Given the description of an element on the screen output the (x, y) to click on. 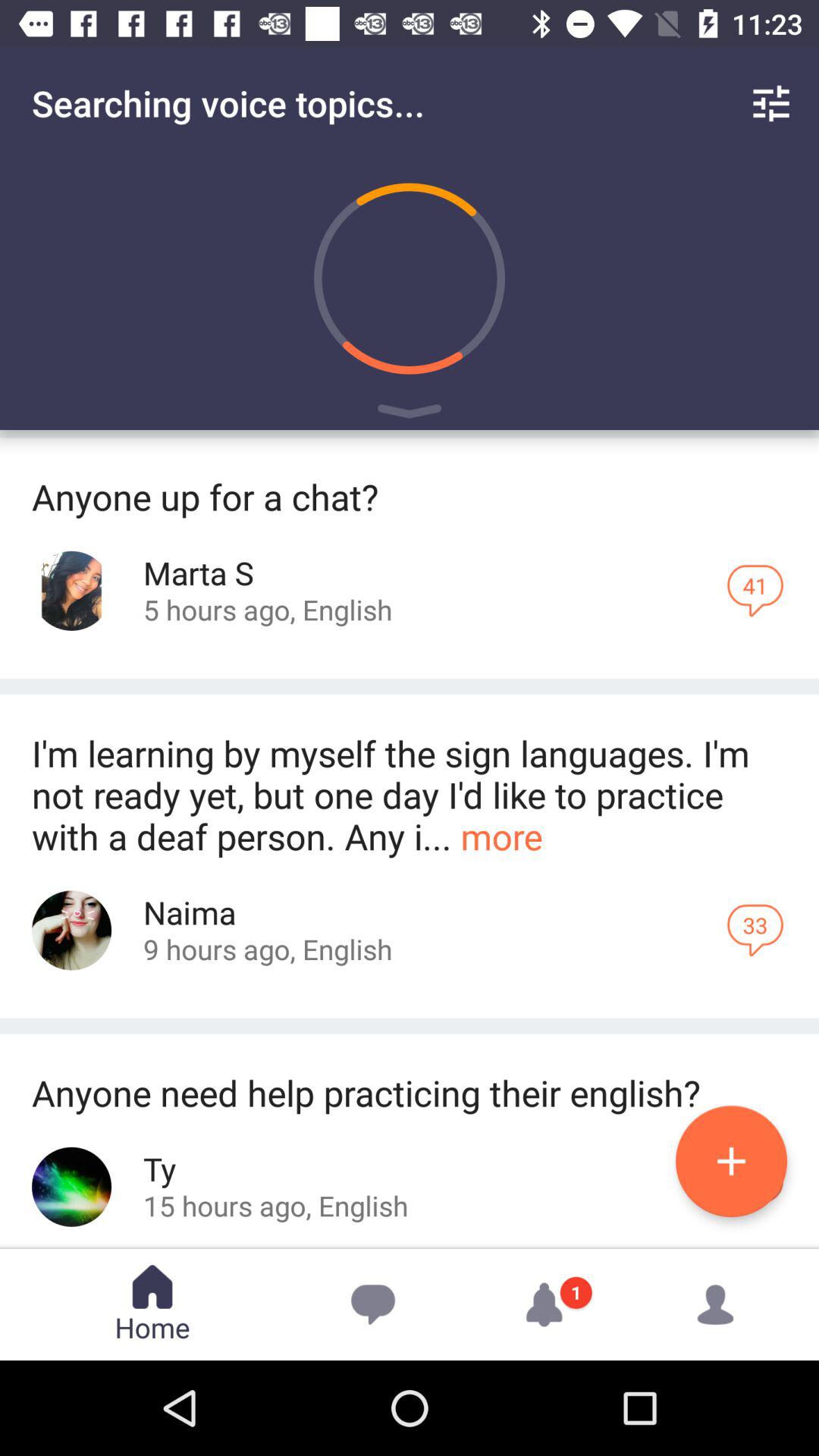
photos page (71, 930)
